Given the description of an element on the screen output the (x, y) to click on. 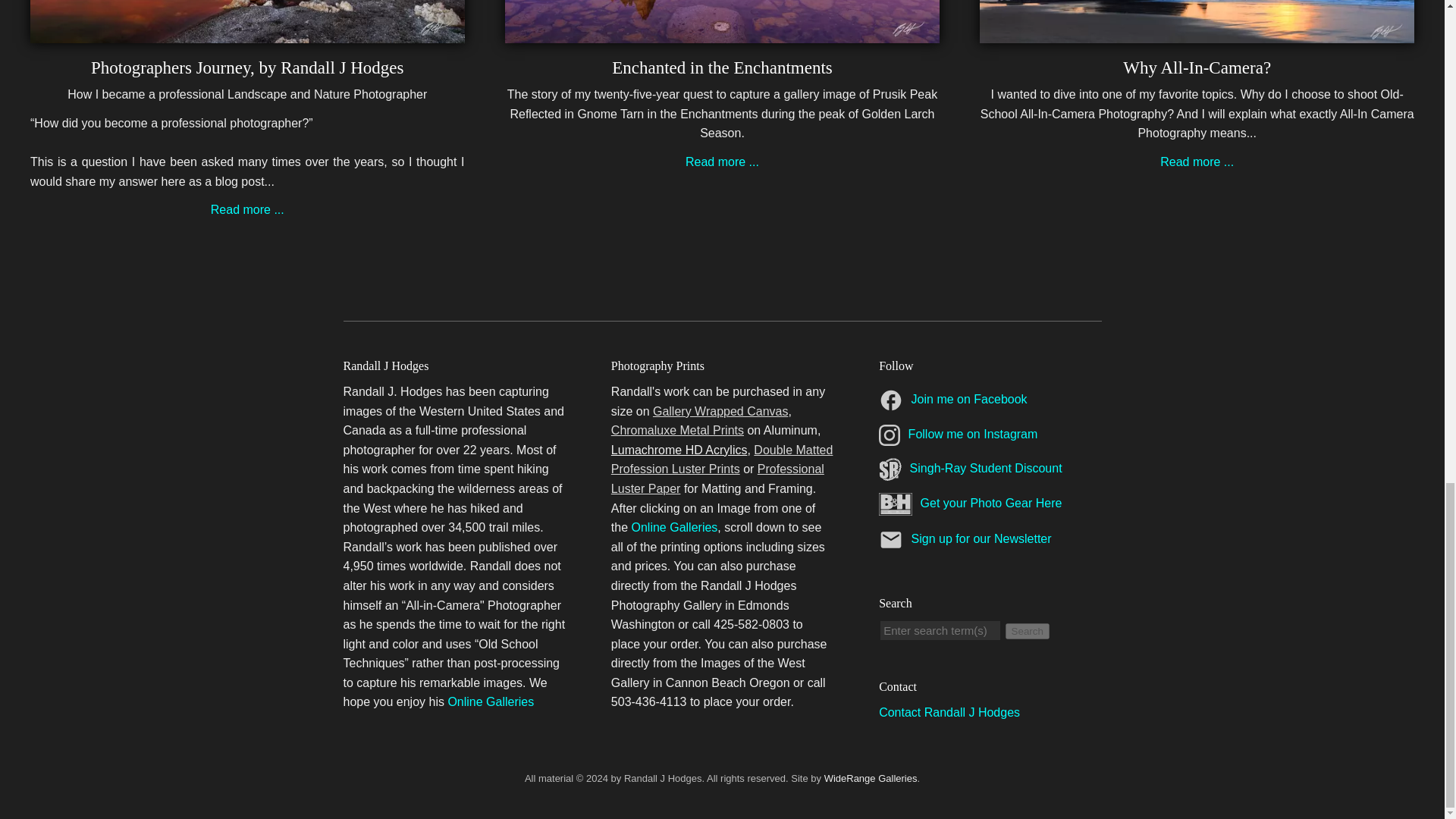
Photographers Journey, by Randall J Hodges (247, 32)
Gallery Wrapped Canvas (719, 410)
Photographers Journey, by Randall J Hodges (247, 209)
Enchanted in The Enchantments, by Randall J Hodges (721, 67)
Chromaluxe Metal Prints (677, 430)
Professional Luster Paper (717, 478)
Why All-In-Camera? (1196, 67)
Enchanted in The Enchantments, by Randall J Hodges (721, 161)
Lumachrome HD Acrylics (679, 449)
Why All-In-Camera? (1196, 67)
